Given the description of an element on the screen output the (x, y) to click on. 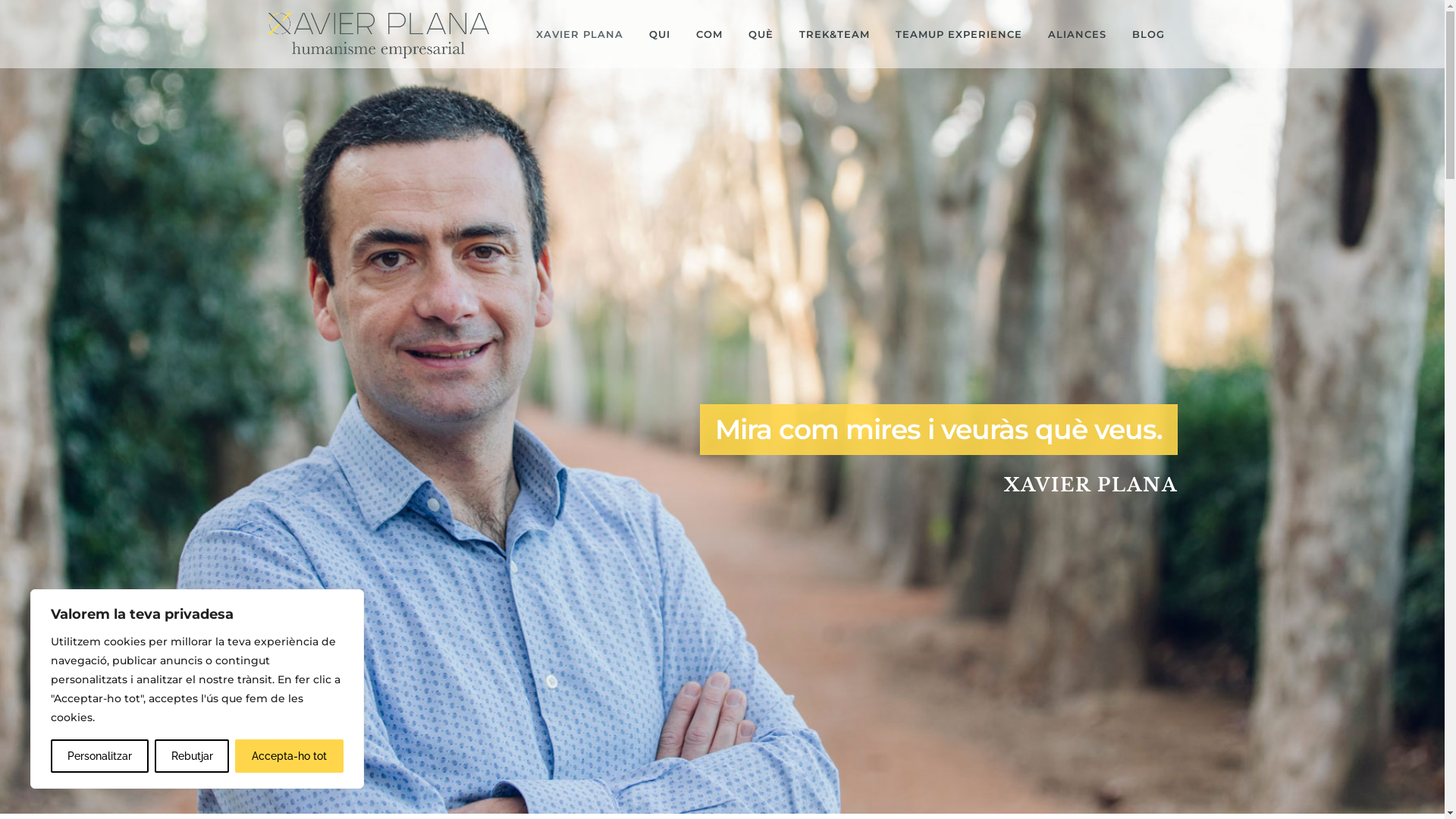
ALIANCES Element type: text (1076, 34)
Accepta-ho tot Element type: text (289, 755)
TREK&TEAM Element type: text (833, 34)
Personalitzar Element type: text (99, 755)
COM Element type: text (708, 34)
XAVIER PLANA Element type: text (579, 34)
QUI Element type: text (658, 34)
BLOG Element type: text (1148, 34)
TEAMUP EXPERIENCE Element type: text (958, 34)
Rebutjar Element type: text (191, 755)
